Given the description of an element on the screen output the (x, y) to click on. 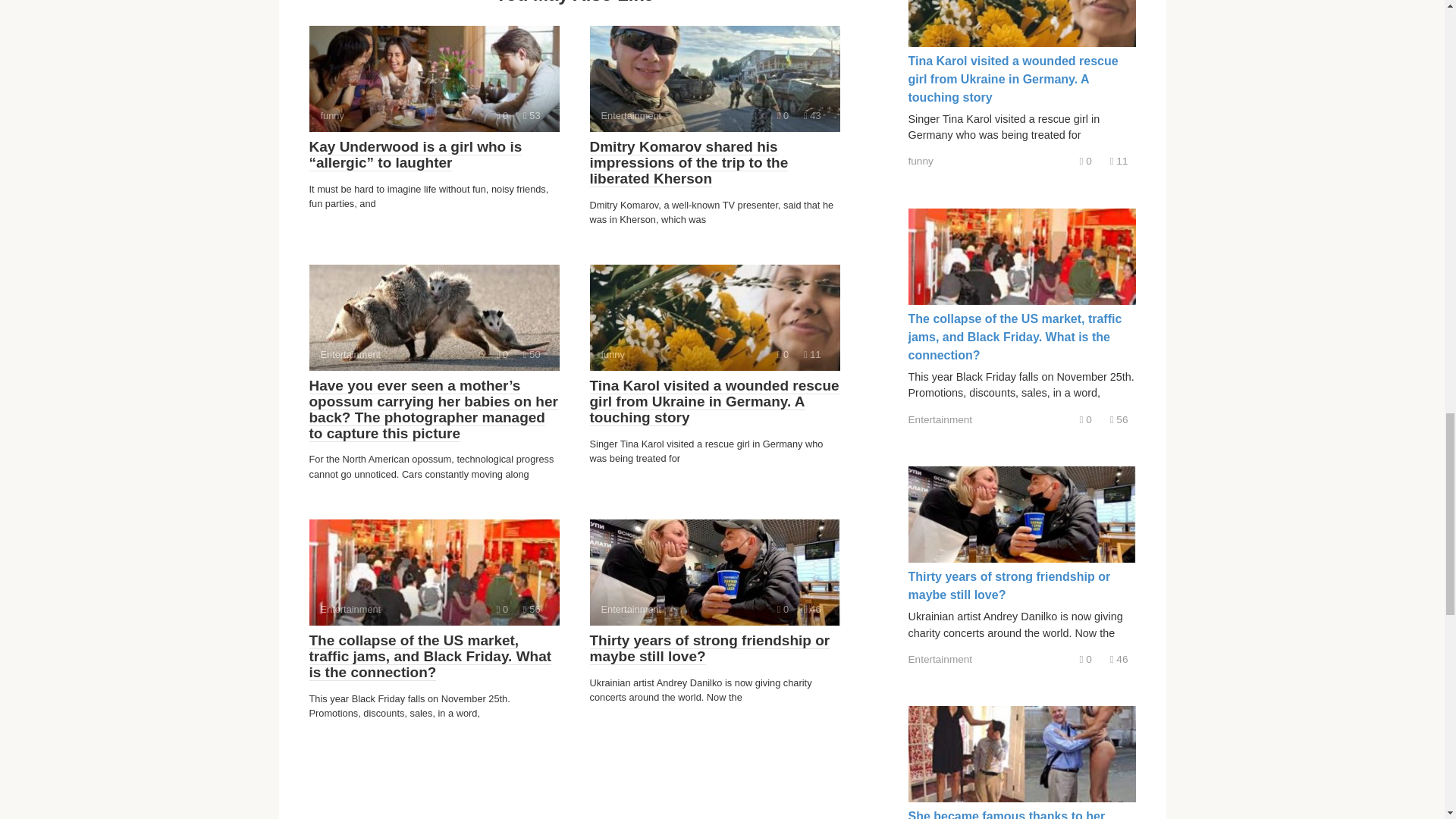
Views (531, 609)
Comments (502, 354)
Comments (502, 609)
Thirty years of strong friendship or maybe still love? (709, 648)
Views (531, 115)
Comments (783, 609)
Views (433, 78)
Views (812, 115)
Comments (812, 354)
Views (714, 78)
